Given the description of an element on the screen output the (x, y) to click on. 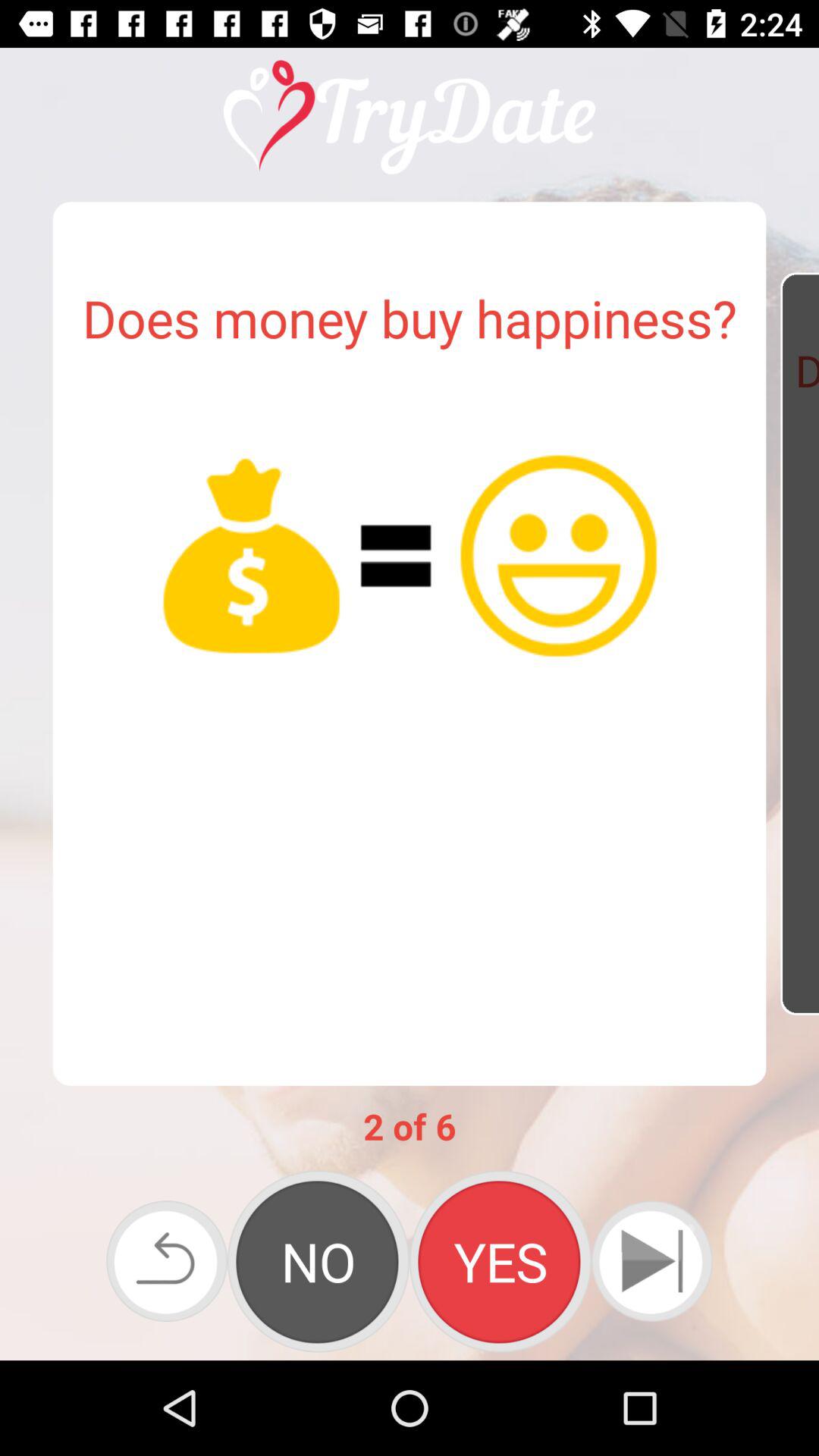
yes button (500, 1261)
